Given the description of an element on the screen output the (x, y) to click on. 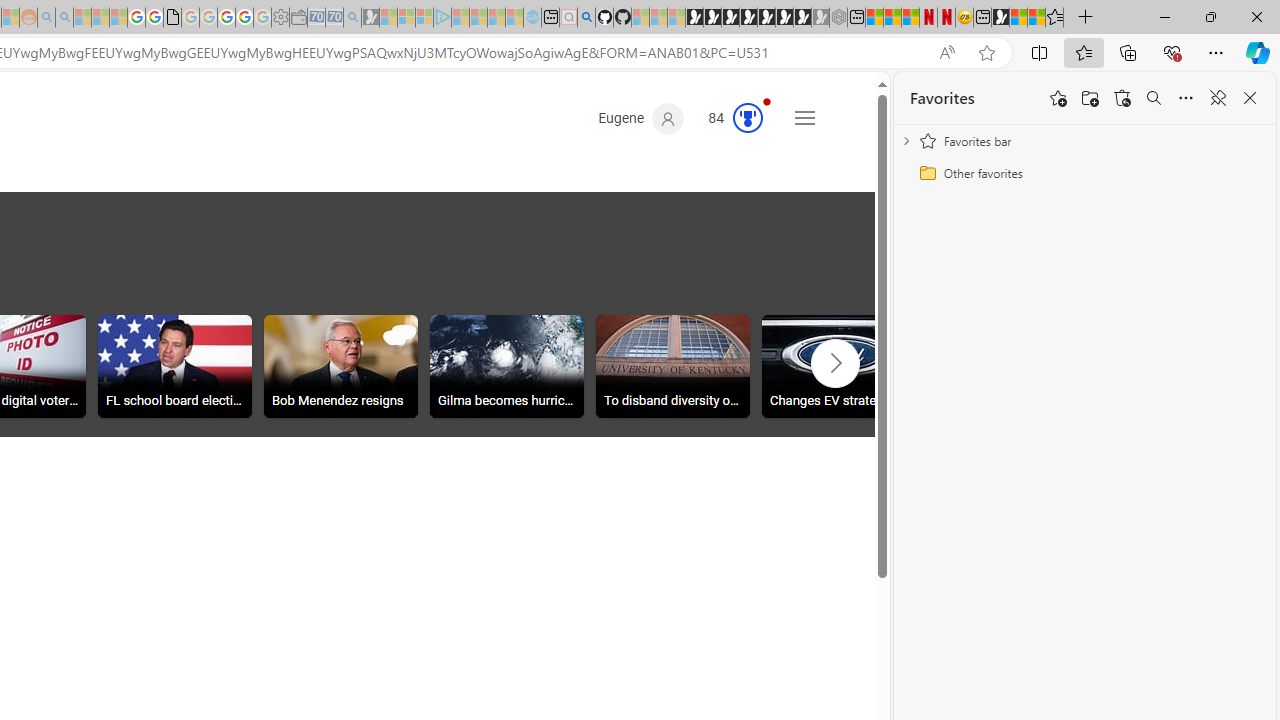
Bob Menendez resigns (340, 365)
Settings and quick links (804, 117)
Gilma becomes hurricane (506, 365)
Changes EV strategy (838, 365)
Add folder (1089, 98)
